Given the description of an element on the screen output the (x, y) to click on. 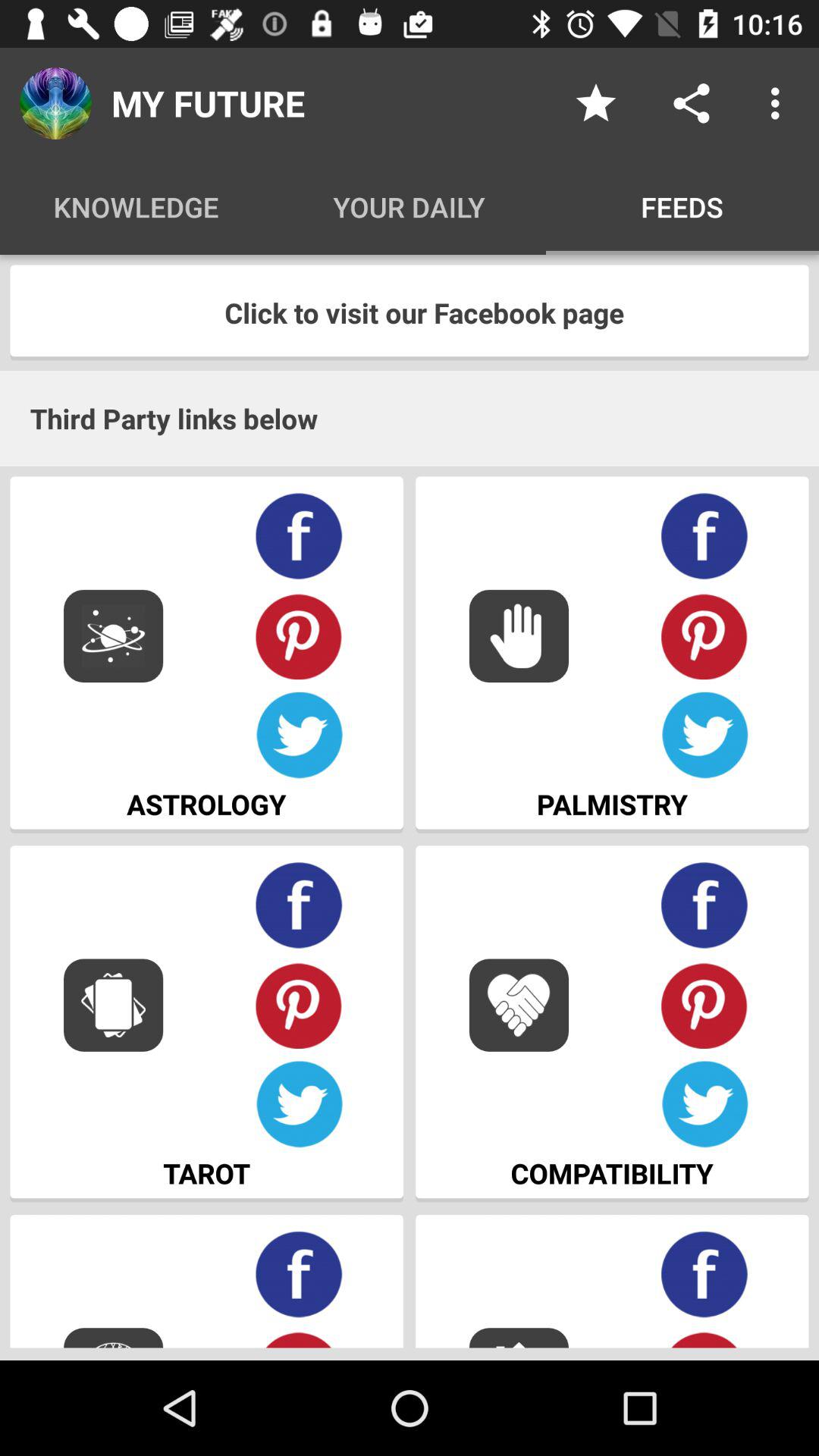
share on facebook (299, 905)
